Given the description of an element on the screen output the (x, y) to click on. 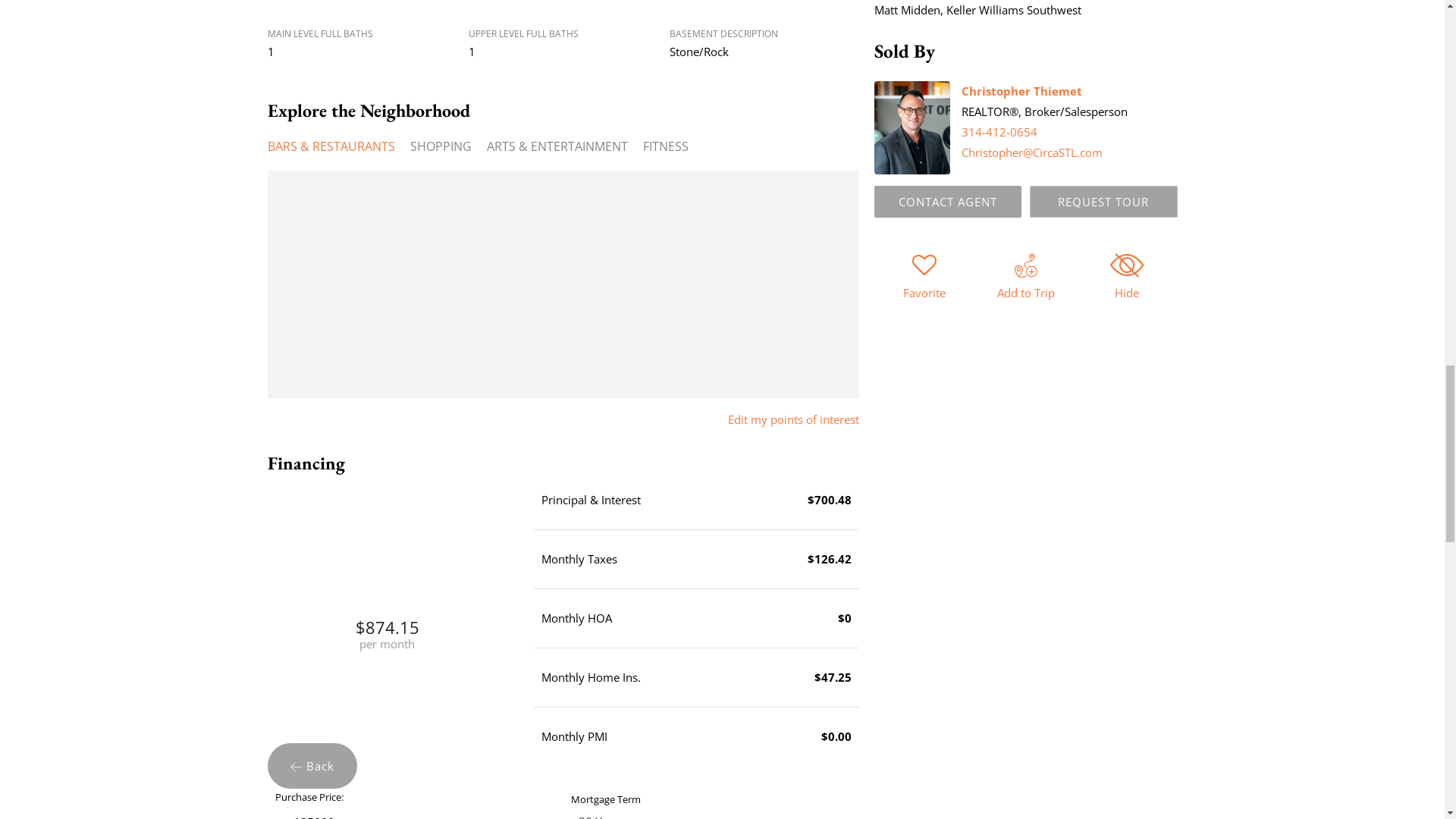
Edit my points of interest (793, 418)
135000 (419, 812)
